Given the description of an element on the screen output the (x, y) to click on. 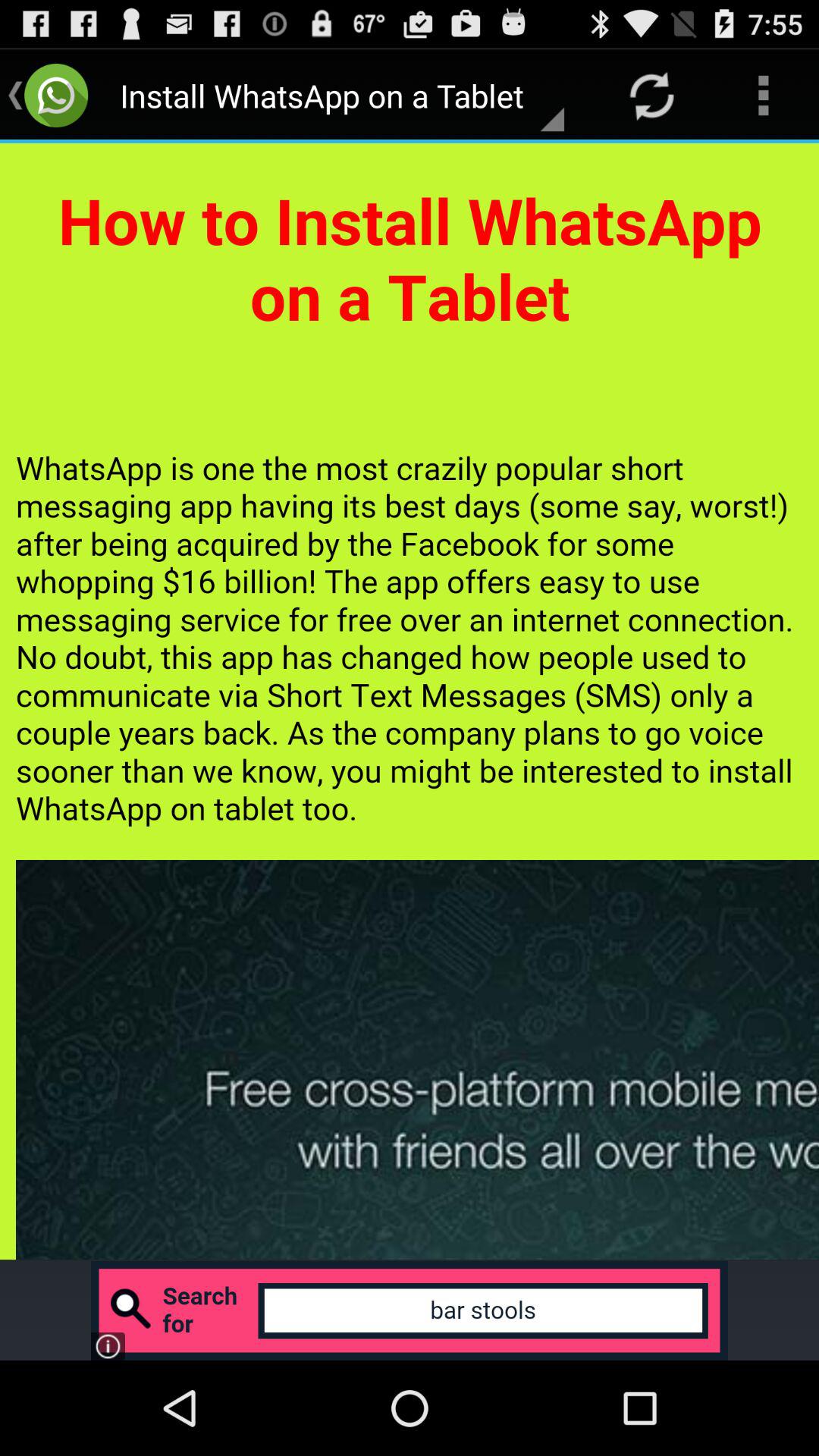
main content for the article (409, 701)
